Given the description of an element on the screen output the (x, y) to click on. 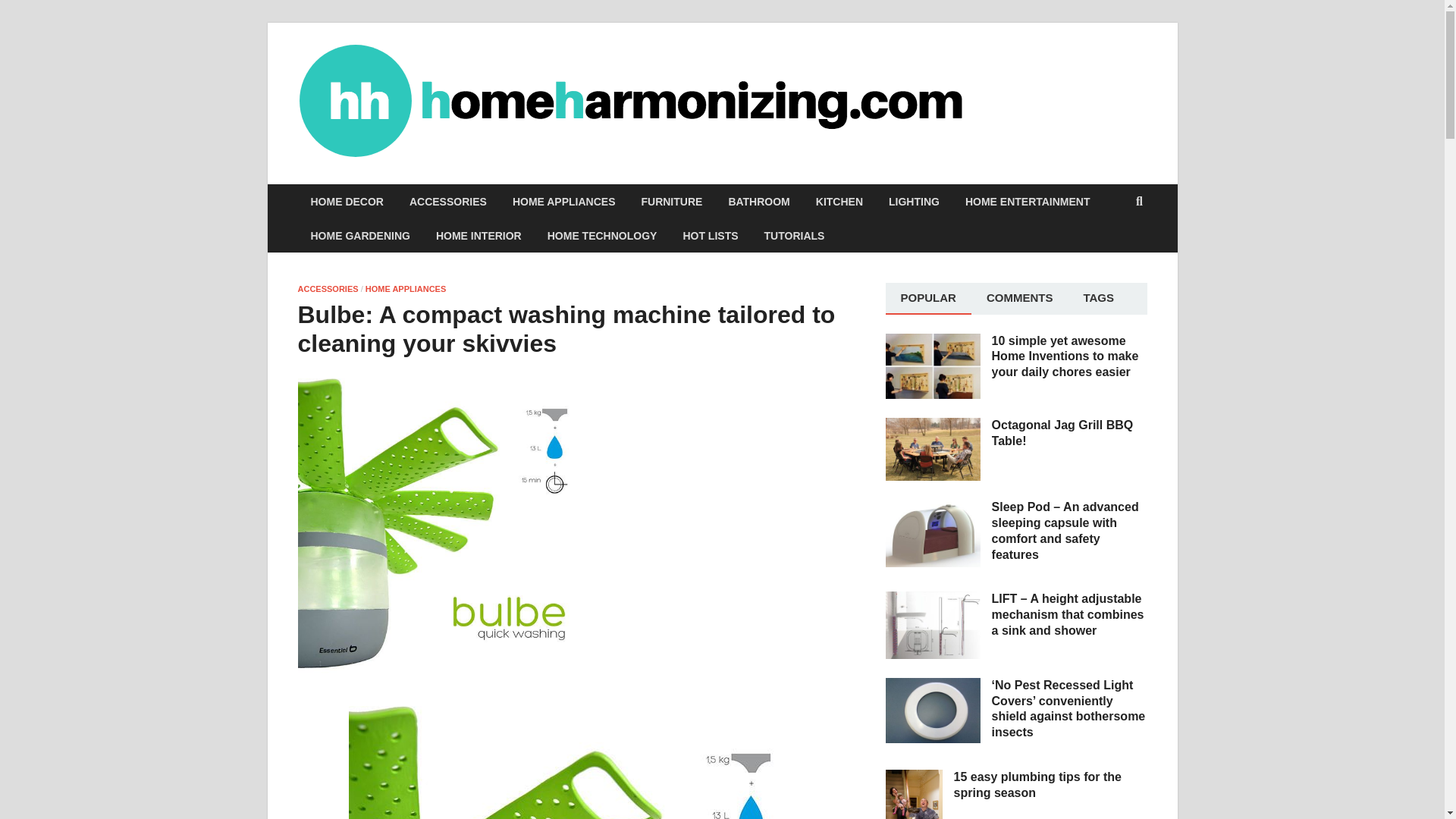
HOT LISTS (710, 235)
LIGHTING (914, 201)
HOME GARDENING (359, 235)
HOME ENTERTAINMENT (1027, 201)
HOME APPLIANCES (405, 288)
HOME APPLIANCES (563, 201)
BATHROOM (758, 201)
HOME TECHNOLOGY (601, 235)
15 easy plumbing tips for the spring season (913, 778)
ACCESSORIES (327, 288)
HOME INTERIOR (478, 235)
HOME DECOR (346, 201)
ACCESSORIES (447, 201)
Home Harmonizing (1076, 91)
